Given the description of an element on the screen output the (x, y) to click on. 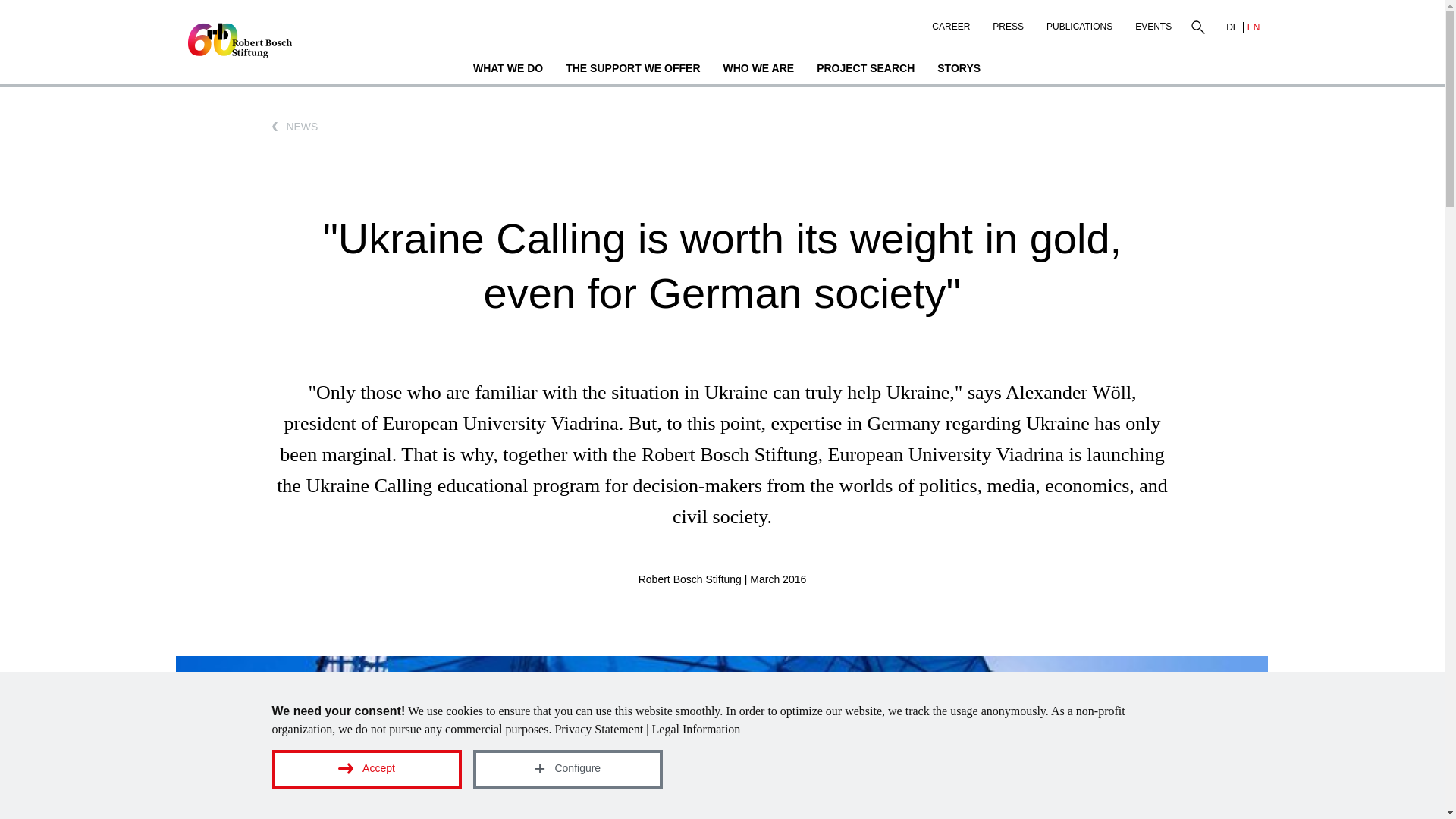
CAREER (950, 22)
Accept (365, 769)
THE SUPPORT WE OFFER (632, 69)
EVENTS (1153, 22)
Configure (567, 769)
English (1253, 27)
WHO WE ARE (758, 69)
PUBLICATIONS (1079, 22)
PRESS (1008, 22)
PROJECT SEARCH (865, 69)
EN (1253, 27)
STORYS (958, 69)
DE (1233, 27)
